Given the description of an element on the screen output the (x, y) to click on. 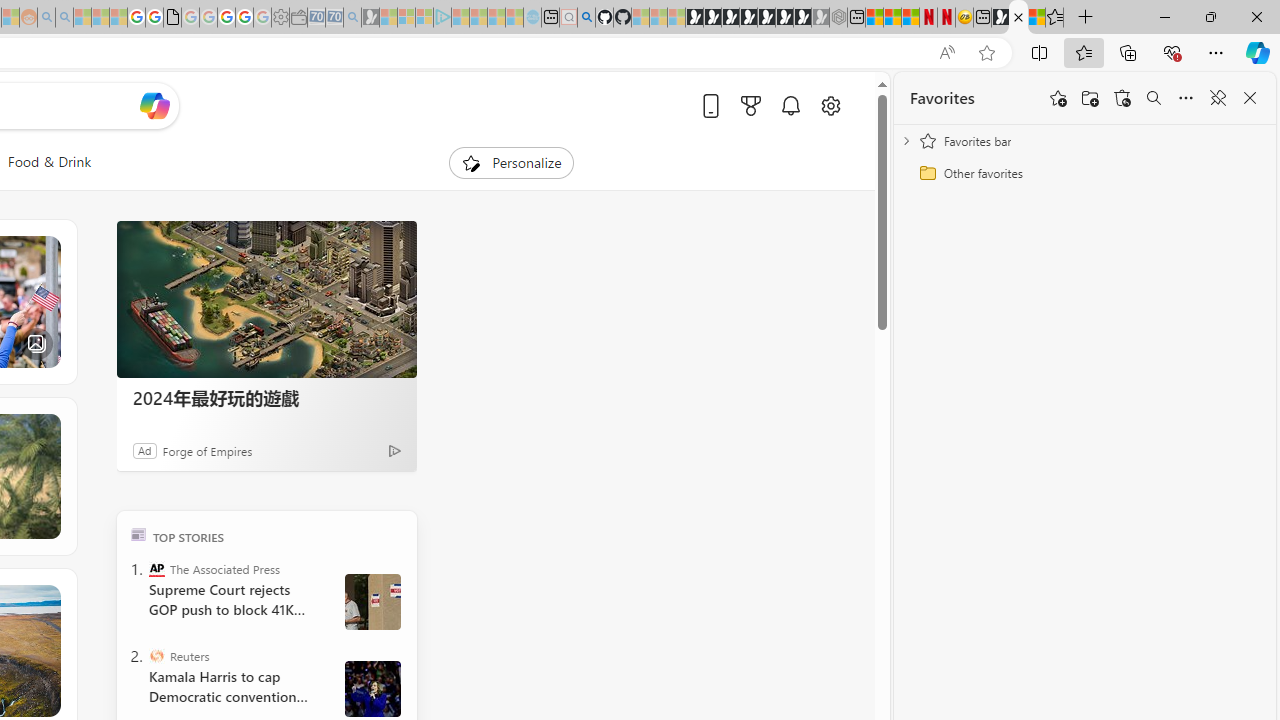
Home | Sky Blue Bikes - Sky Blue Bikes - Sleeping (532, 17)
Bing Real Estate - Home sales and rental listings - Sleeping (352, 17)
Microsoft Start Gaming - Sleeping (370, 17)
Wallet - Sleeping (298, 17)
